Given the description of an element on the screen output the (x, y) to click on. 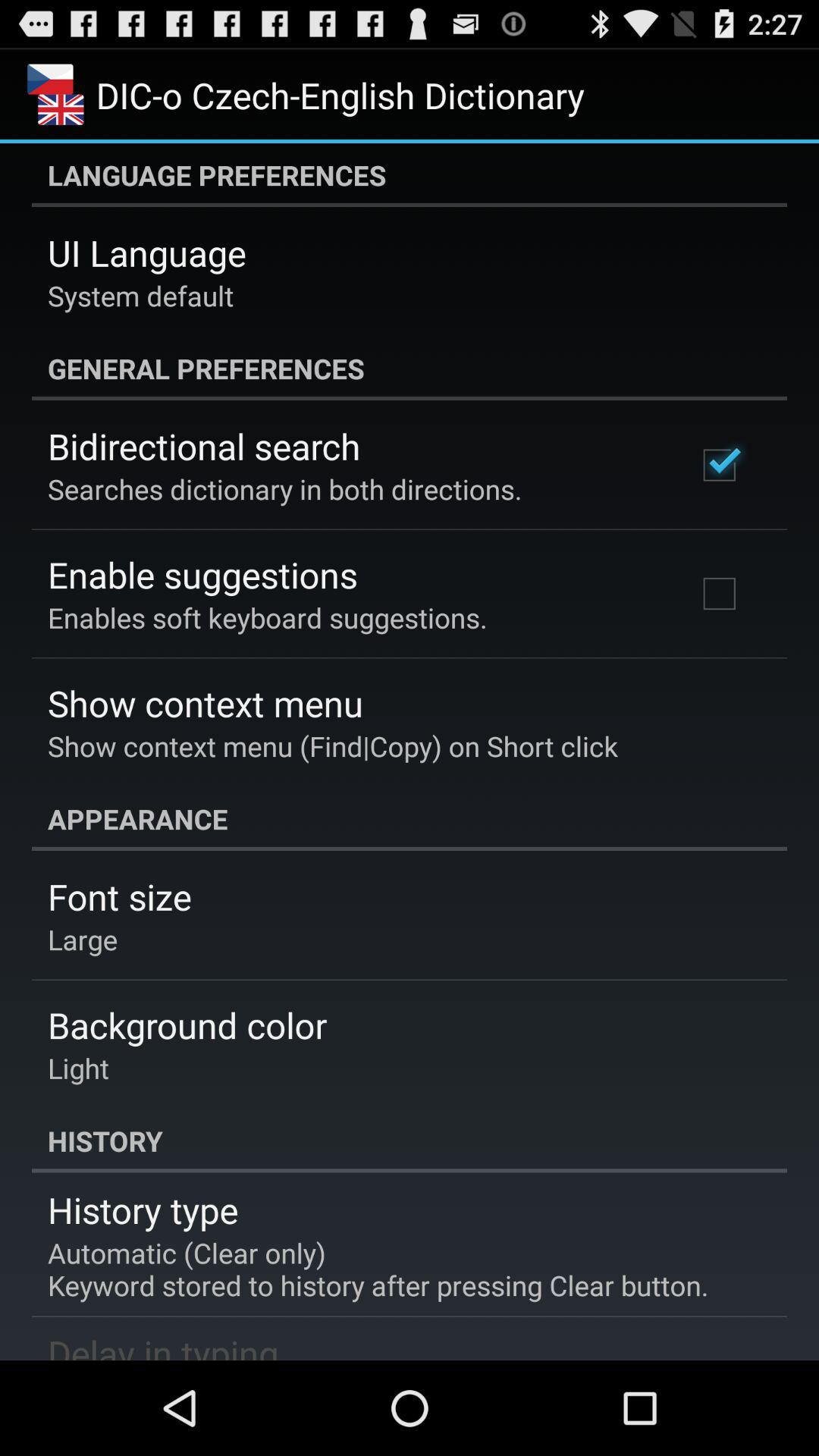
scroll to the language preferences item (409, 175)
